Given the description of an element on the screen output the (x, y) to click on. 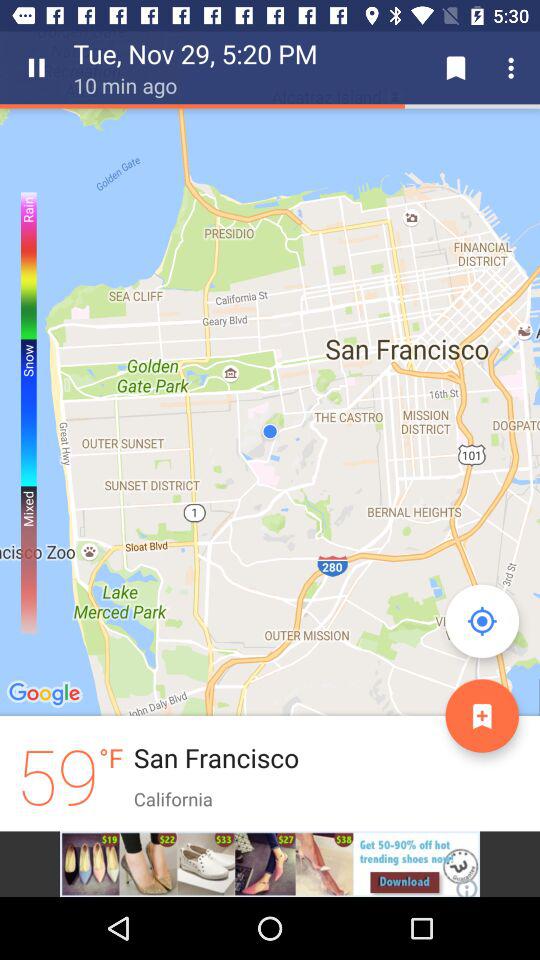
add location (482, 715)
